Given the description of an element on the screen output the (x, y) to click on. 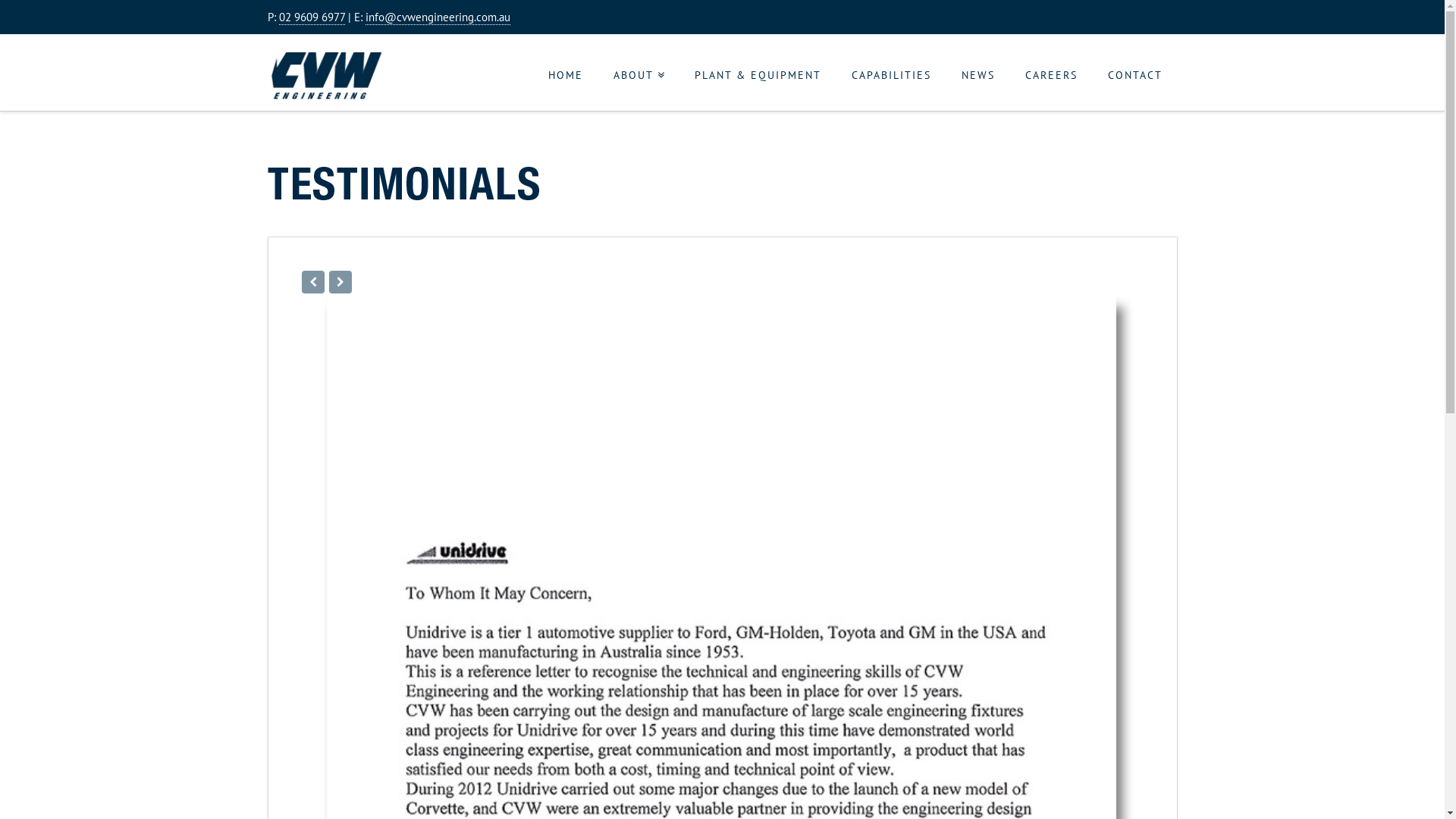
CAPABILITIES Element type: text (890, 72)
LinkedIn Element type: hover (1105, 16)
ABOUT Element type: text (638, 72)
info@cvwengineering.com.au Element type: text (437, 17)
HOME Element type: text (565, 72)
PLANT & EQUIPMENT Element type: text (757, 72)
RSS Element type: hover (1169, 16)
Facebook Element type: hover (1042, 16)
Precision Engineering Element type: hover (325, 75)
NEWS Element type: text (978, 72)
Google+ Element type: hover (1084, 16)
CONTACT Element type: text (1134, 72)
Twitter Element type: hover (1063, 16)
CAREERS Element type: text (1051, 72)
Pinterest Element type: hover (1127, 16)
Dribbble Element type: hover (1148, 16)
02 9609 6977 Element type: text (312, 17)
